Given the description of an element on the screen output the (x, y) to click on. 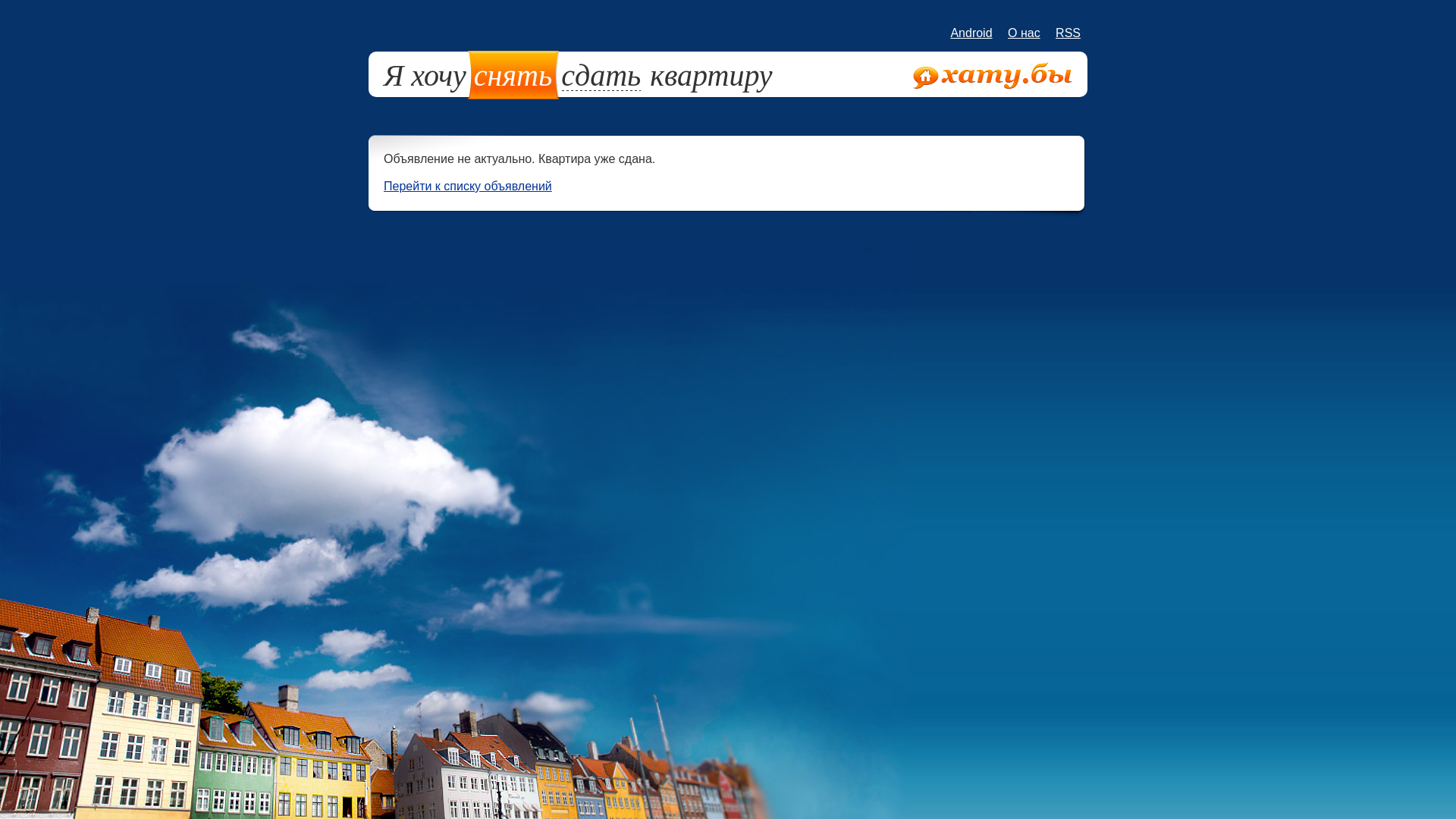
Android Element type: text (970, 32)
RSS Element type: text (1067, 32)
